Given the description of an element on the screen output the (x, y) to click on. 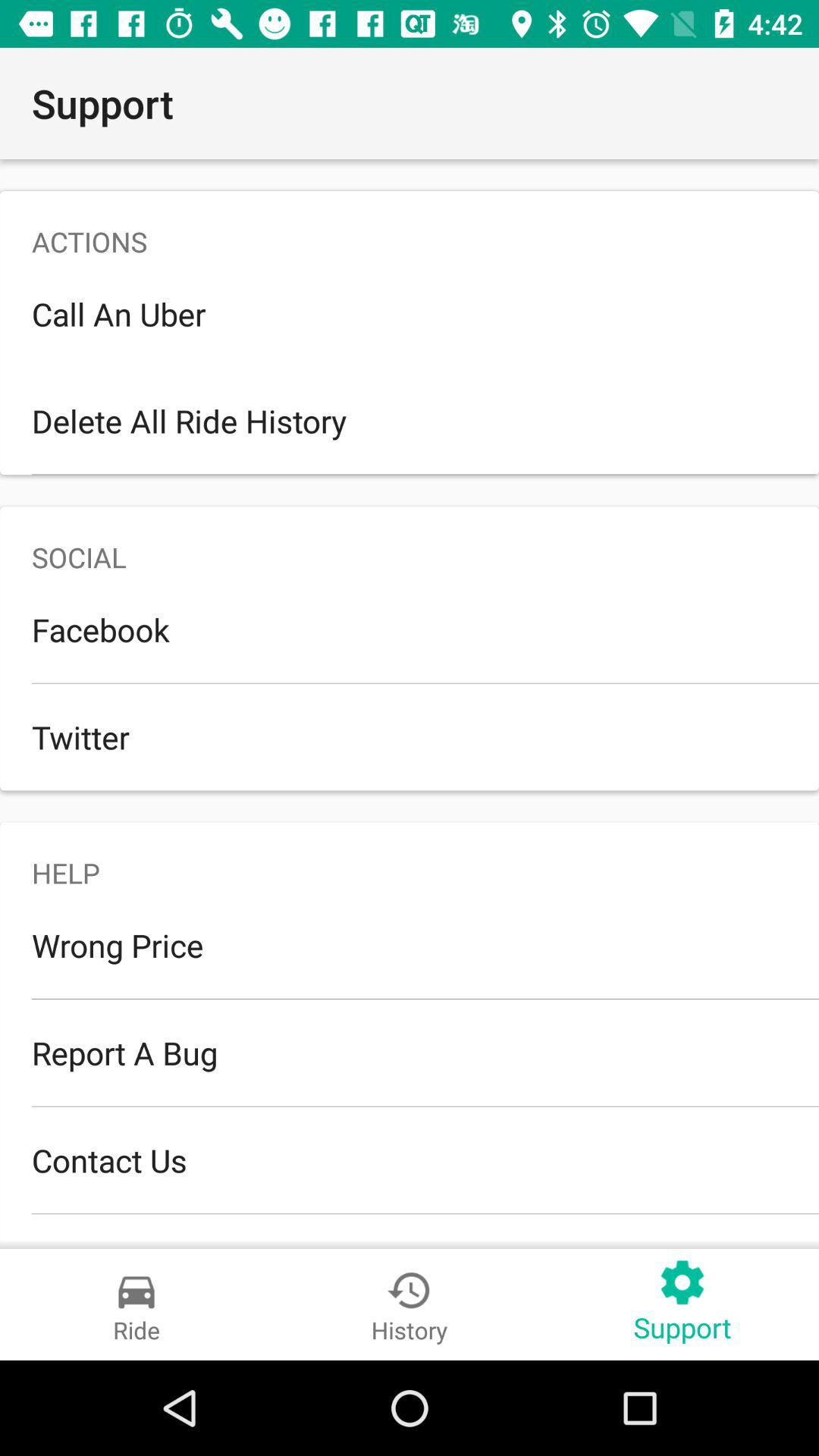
open the twitter item (409, 736)
